Given the description of an element on the screen output the (x, y) to click on. 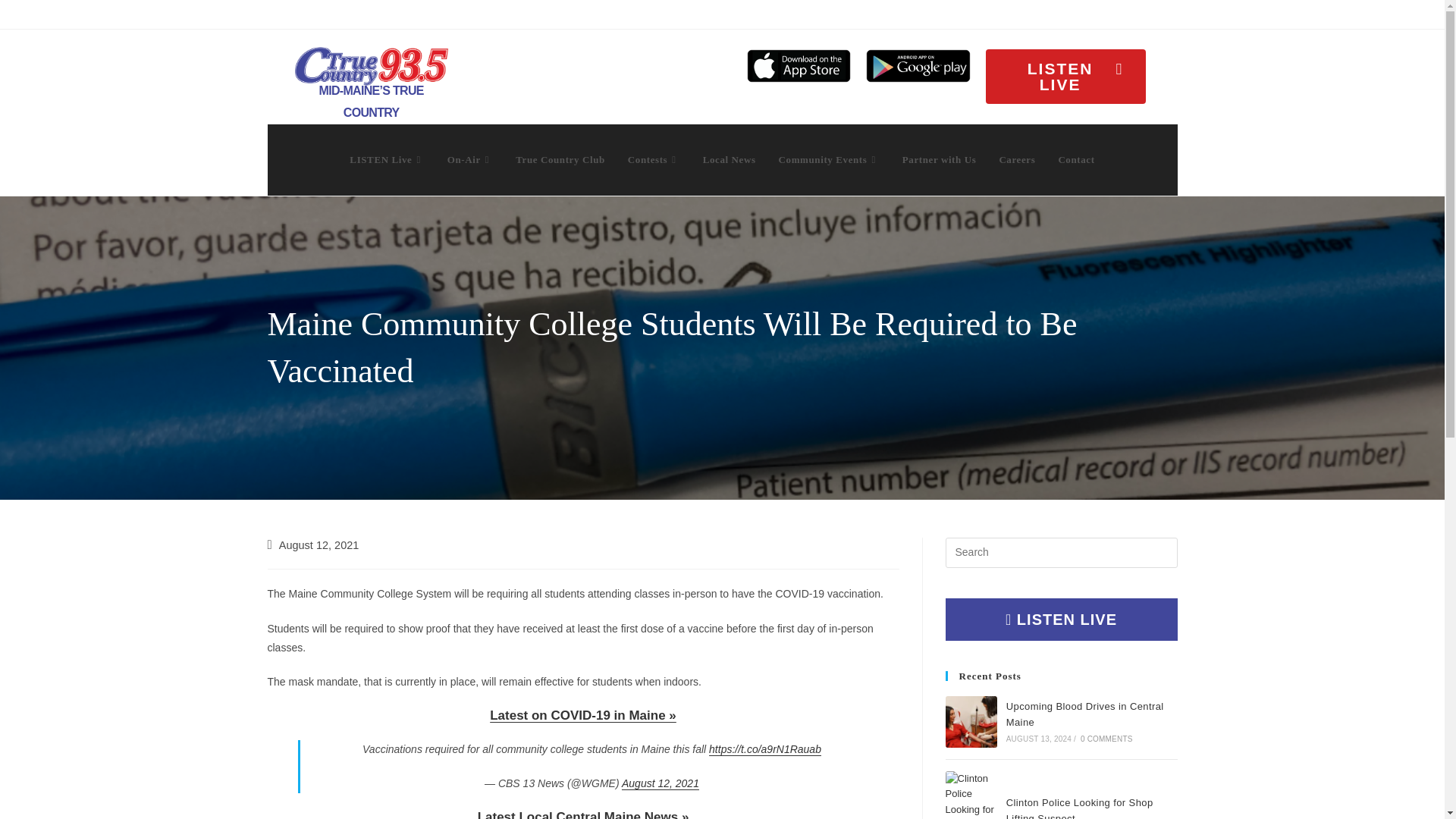
On-Air (469, 159)
LISTEN Live (386, 159)
Community Events (829, 159)
Contact (1075, 159)
Contests (653, 159)
Partner with Us (939, 159)
LISTEN LIVE (1065, 76)
Upcoming Blood Drives in Central Maine (969, 721)
Careers (1016, 159)
True Country Club (559, 159)
